Given the description of an element on the screen output the (x, y) to click on. 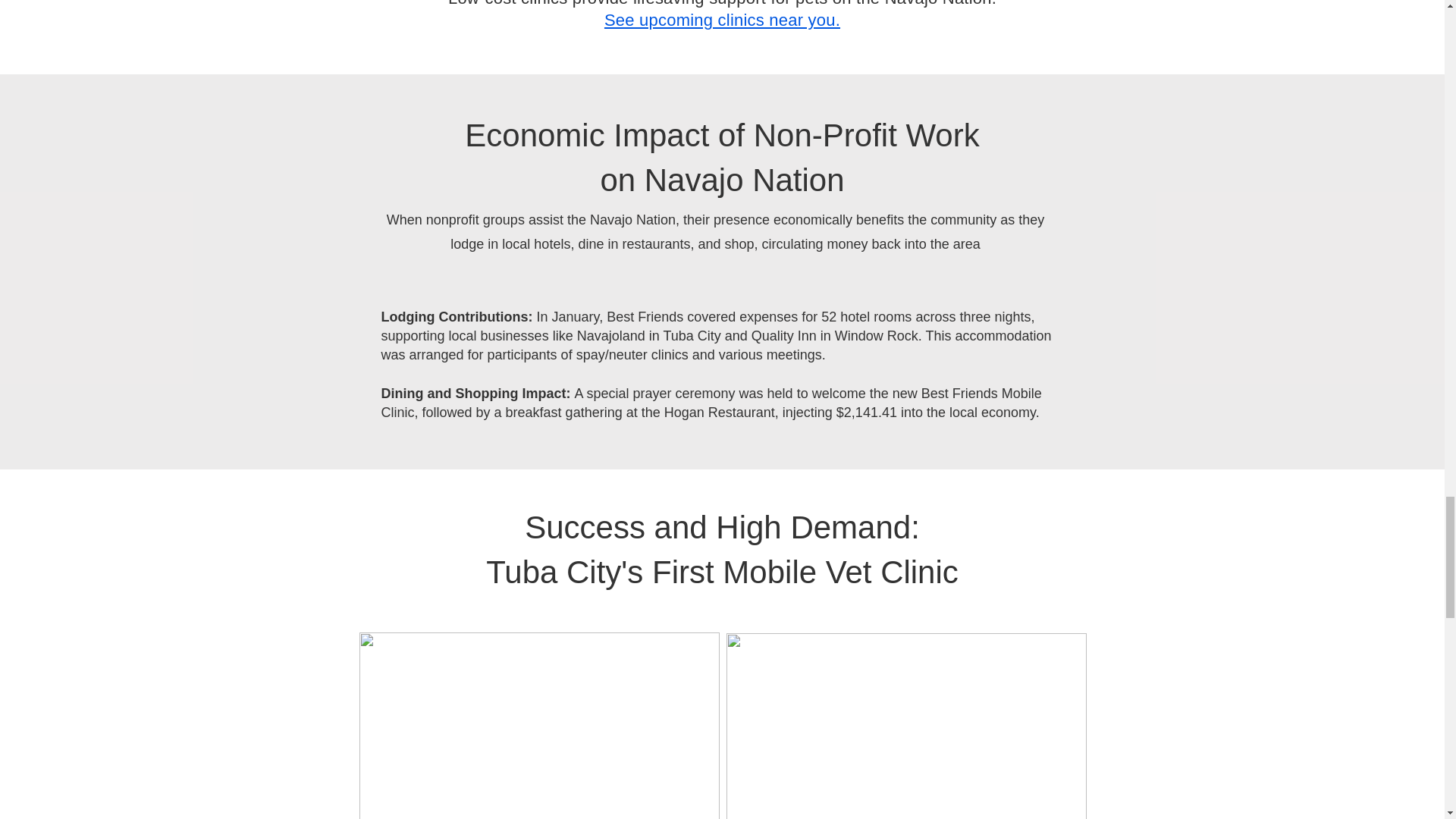
See upcoming clinics near you. (722, 19)
navajo spay clinic line up.jpg (539, 725)
